Given the description of an element on the screen output the (x, y) to click on. 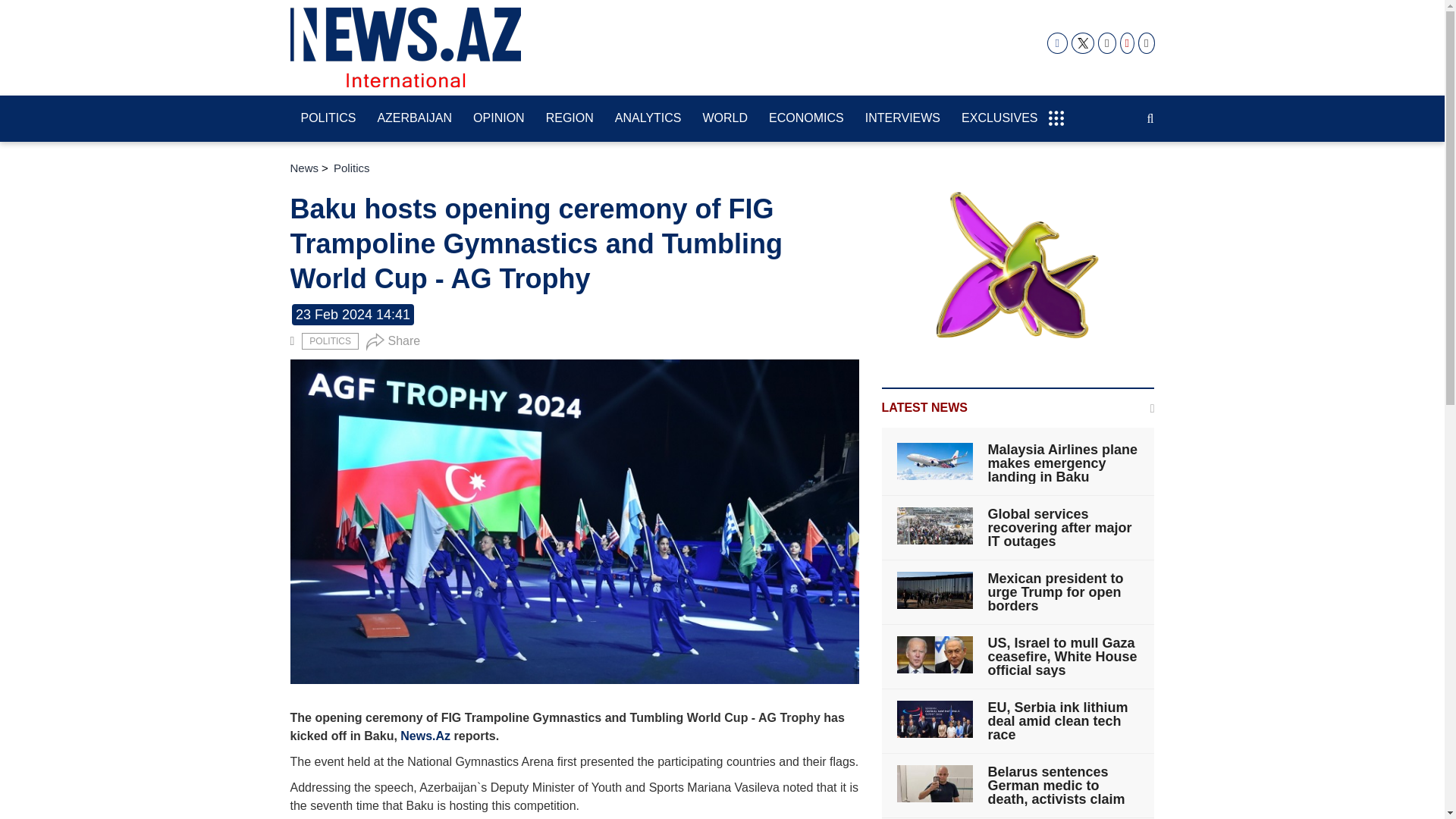
WORLD (725, 119)
ANALYTICS (648, 119)
POLITICS (329, 340)
INTERVIEWS (902, 119)
Menu (1056, 110)
News.Az (424, 735)
ECONOMICS (806, 119)
Exclusives (999, 119)
facebook (1056, 43)
News (303, 167)
AZERBAIJAN (414, 119)
Politics (329, 340)
23 Feb 2024 14:41 (352, 314)
News.az (404, 47)
